Given the description of an element on the screen output the (x, y) to click on. 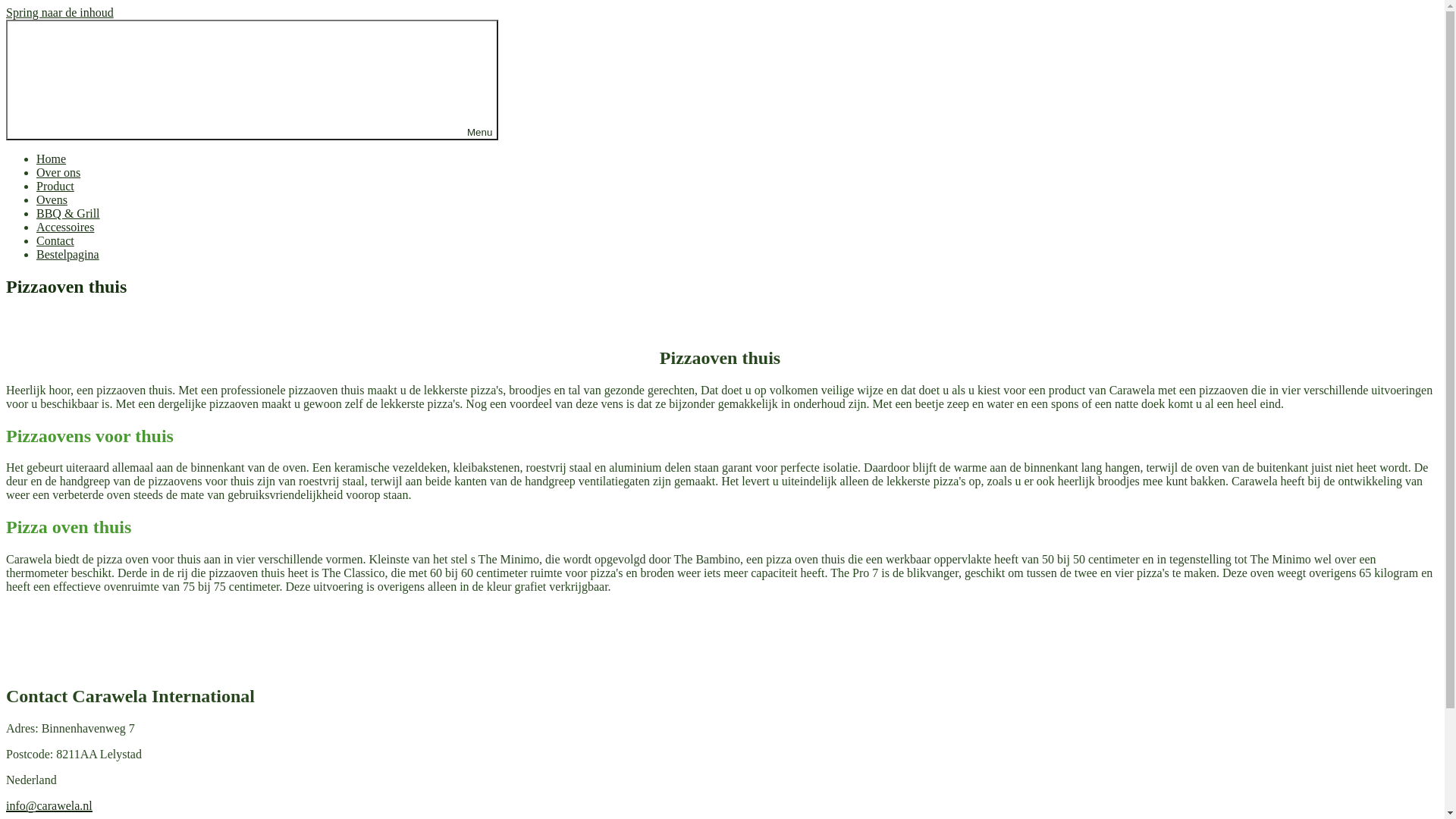
Over ons Element type: text (58, 172)
Menu Element type: text (252, 79)
Carawela pizza ovens Element type: text (58, 37)
BBQ & Grill Element type: text (68, 213)
Product Element type: text (55, 185)
Ovens Element type: text (51, 199)
Home Element type: text (50, 158)
info@carawela.nl Element type: text (49, 805)
Contact Element type: text (55, 240)
Spring naar de inhoud Element type: text (59, 12)
Accessoires Element type: text (65, 226)
Bestelpagina Element type: text (67, 253)
